Given the description of an element on the screen output the (x, y) to click on. 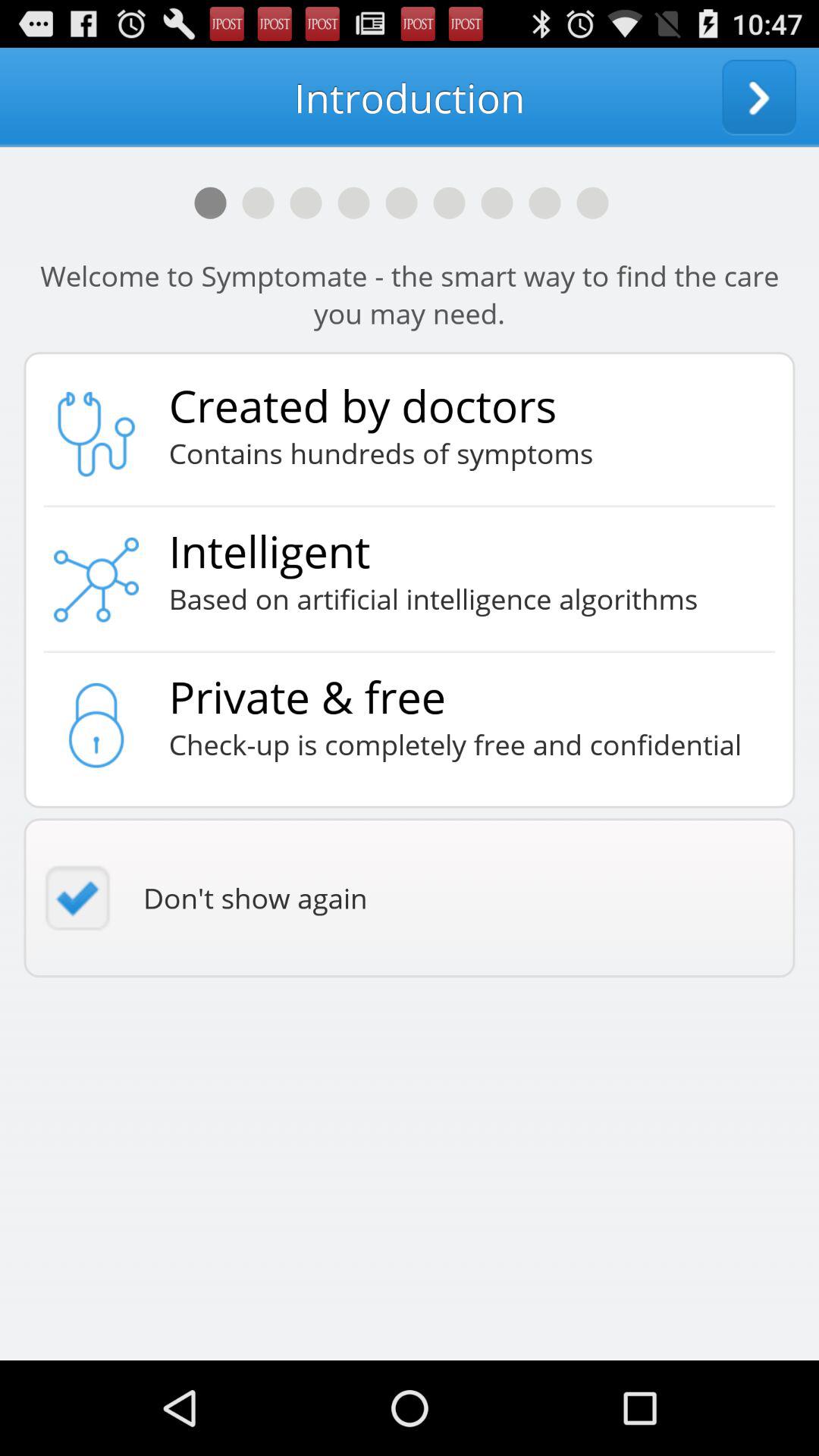
tap the app next to introduction (759, 97)
